Given the description of an element on the screen output the (x, y) to click on. 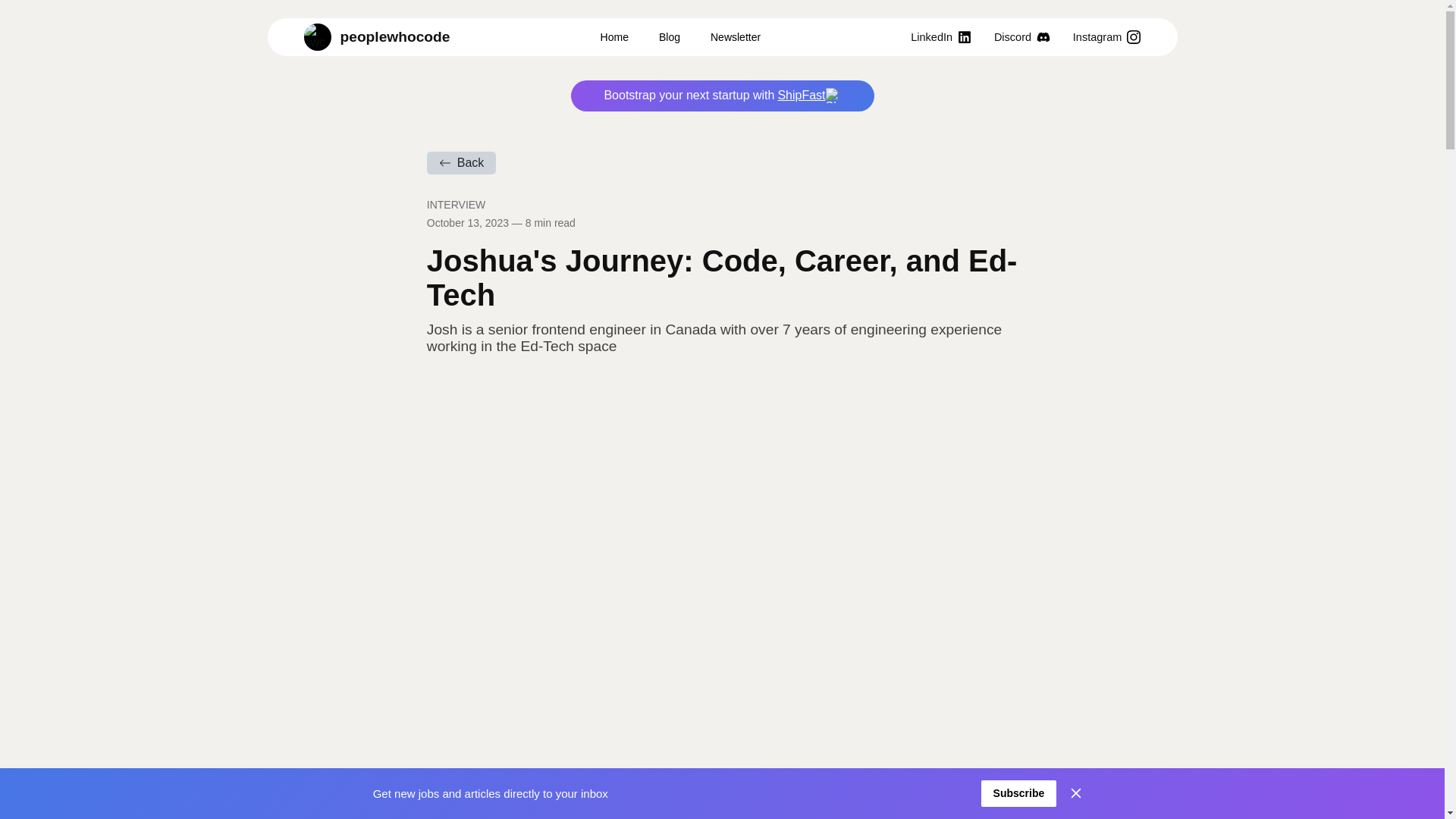
Home (613, 37)
Back (461, 162)
Newsletter (735, 37)
Instagram (1107, 37)
Discord (1021, 37)
Blog (669, 37)
LinkedIn (941, 37)
ShipFast (808, 95)
Subscribe (1019, 793)
